Given the description of an element on the screen output the (x, y) to click on. 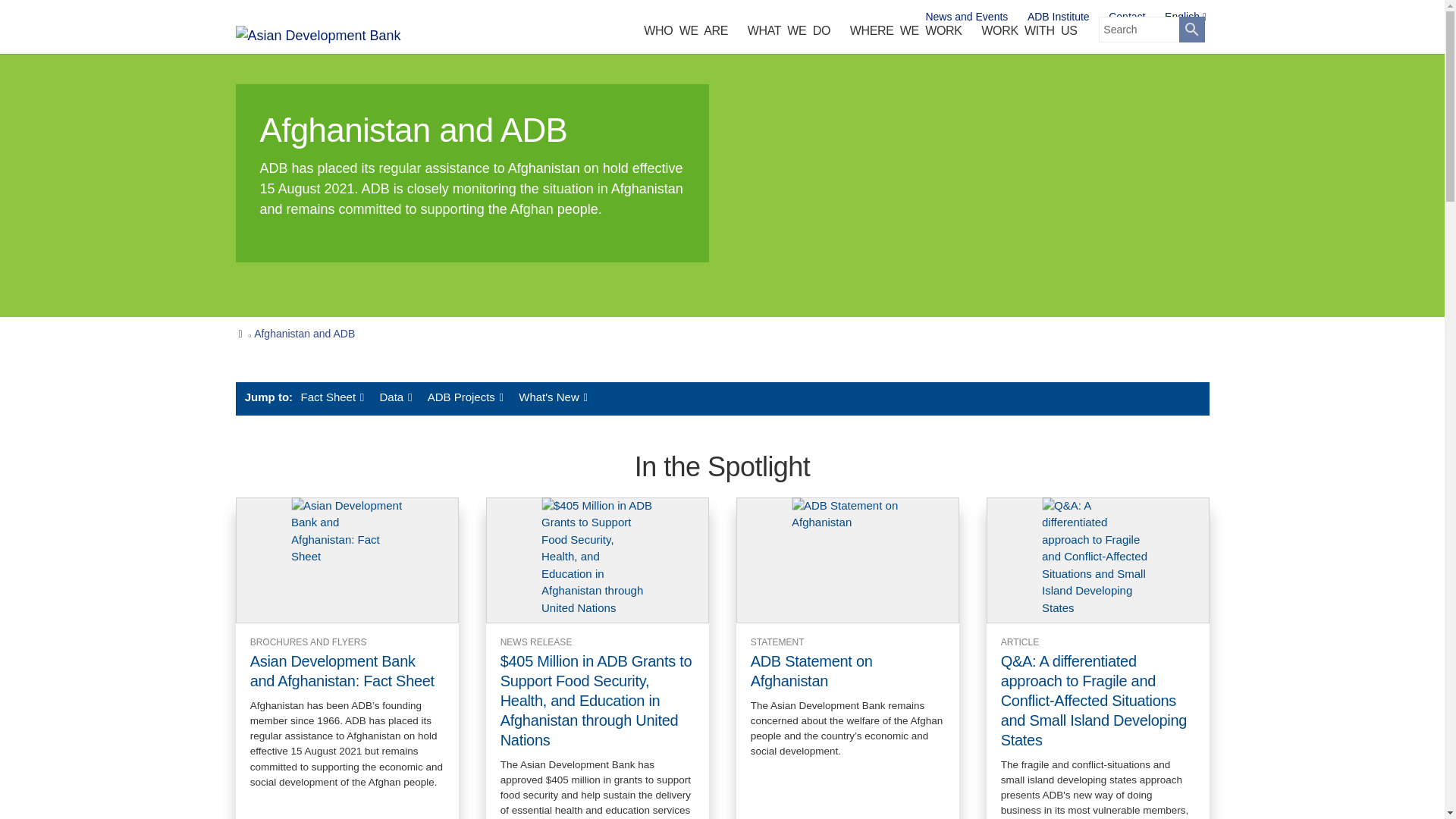
WHAT  WE  DO (789, 33)
ADB Institute (1058, 17)
WHO  WE  ARE (684, 33)
News and Events (966, 17)
WHERE  WE  WORK (906, 33)
ADB Statement on Afghanistan (847, 559)
English   (1186, 17)
Contact (1126, 17)
ADB Home (338, 35)
Asian Development Bank and Afghanistan: Fact Sheet (347, 559)
